Given the description of an element on the screen output the (x, y) to click on. 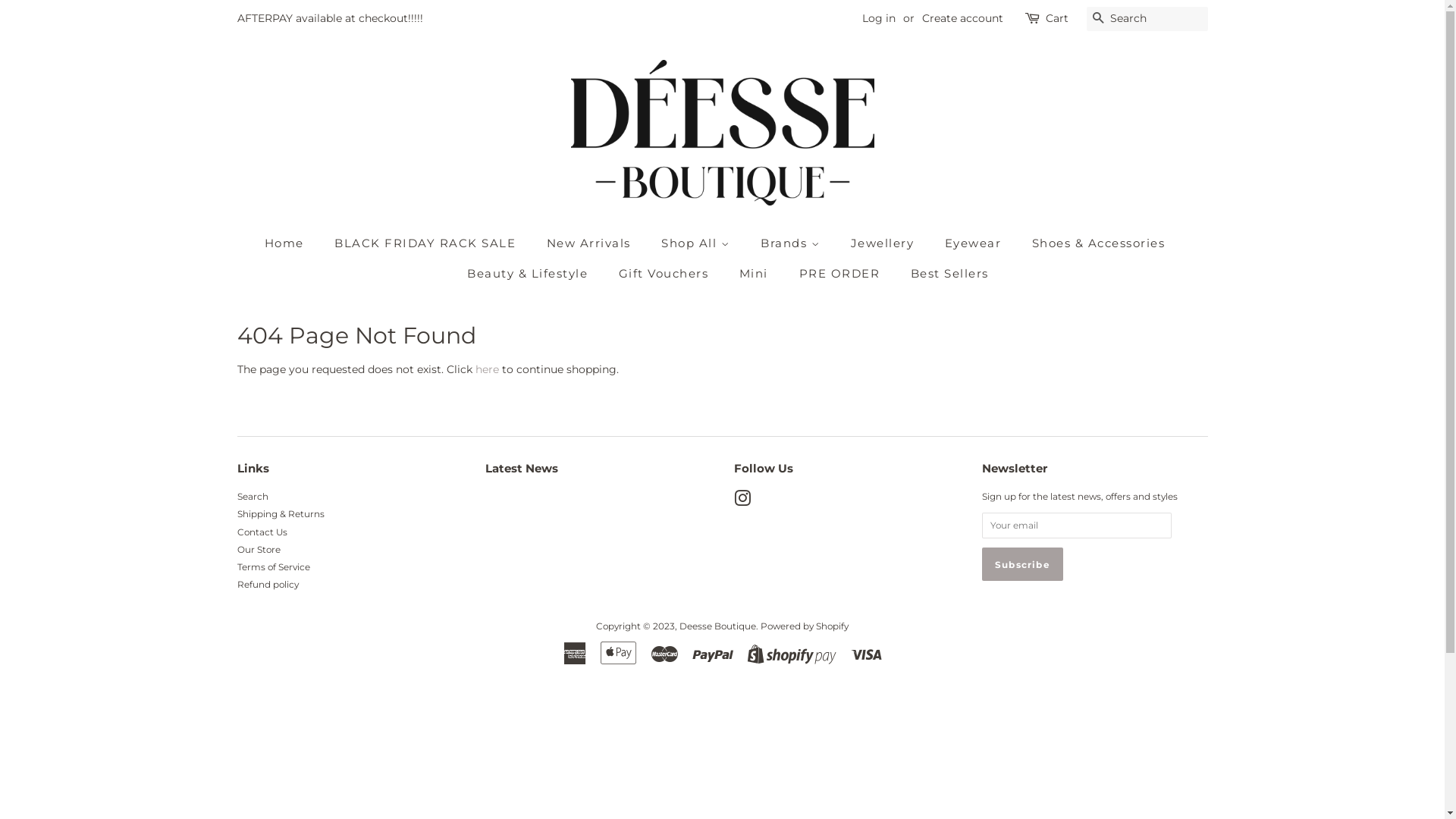
Jewellery Element type: text (884, 243)
Latest News Element type: text (521, 468)
Instagram Element type: text (742, 501)
Shipping & Returns Element type: text (279, 513)
Brands Element type: text (791, 243)
Gift Vouchers Element type: text (665, 273)
Eyewear Element type: text (974, 243)
Search Element type: text (1097, 18)
Deesse Boutique Element type: text (717, 625)
Create account Element type: text (962, 18)
PRE ORDER Element type: text (841, 273)
New Arrivals Element type: text (590, 243)
Beauty & Lifestyle Element type: text (528, 273)
here Element type: text (486, 369)
Refund policy Element type: text (267, 583)
Terms of Service Element type: text (272, 566)
Mini Element type: text (755, 273)
Home Element type: text (291, 243)
Contact Us Element type: text (261, 531)
Shop All Element type: text (696, 243)
Search Element type: text (251, 496)
Log in Element type: text (877, 18)
Cart Element type: text (1055, 18)
BLACK FRIDAY RACK SALE Element type: text (426, 243)
Shoes & Accessories Element type: text (1100, 243)
Powered by Shopify Element type: text (804, 625)
Best Sellers Element type: text (943, 273)
Our Store Element type: text (257, 549)
Subscribe Element type: text (1022, 563)
